Given the description of an element on the screen output the (x, y) to click on. 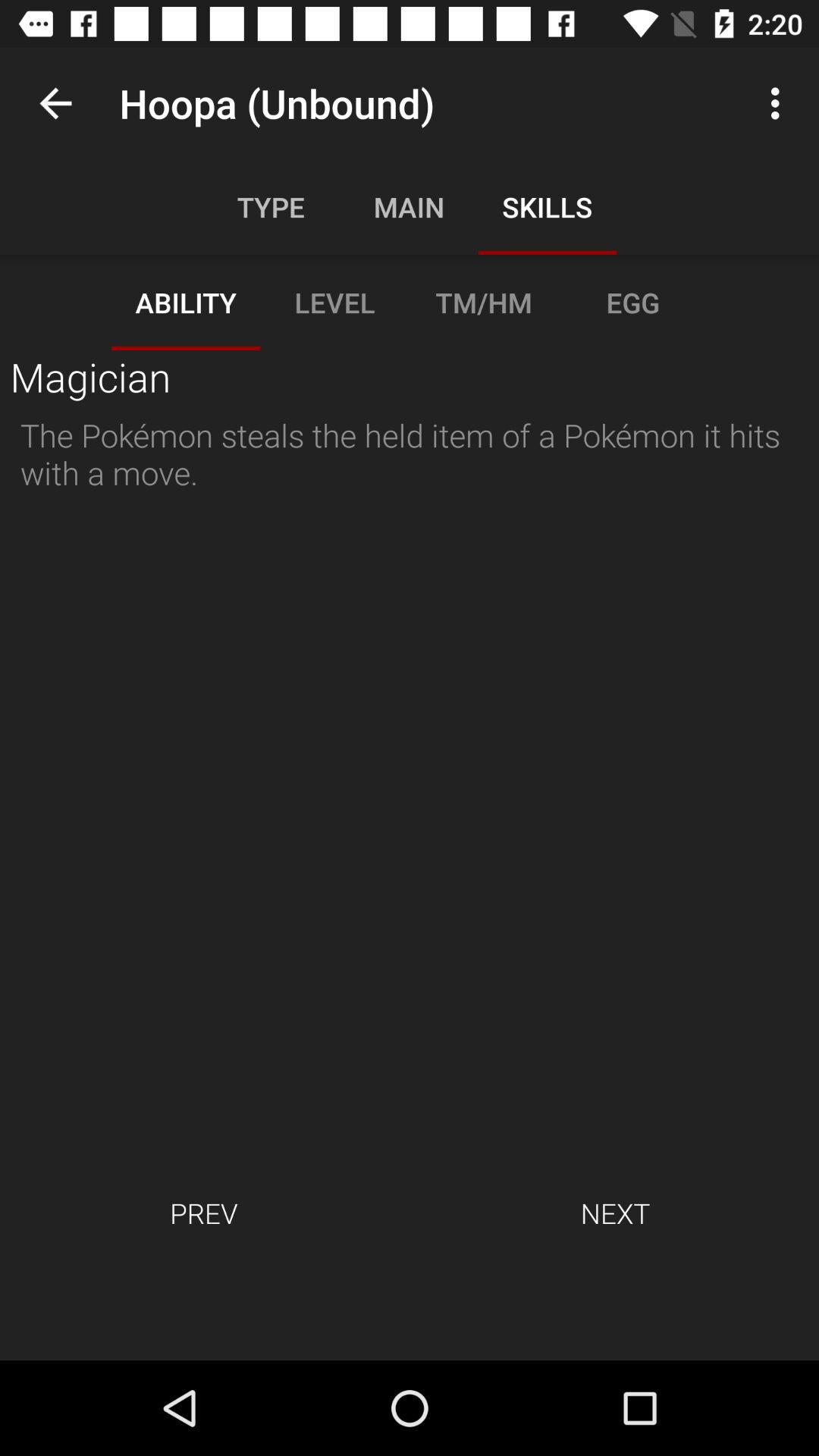
press item to the right of prev (615, 1212)
